Given the description of an element on the screen output the (x, y) to click on. 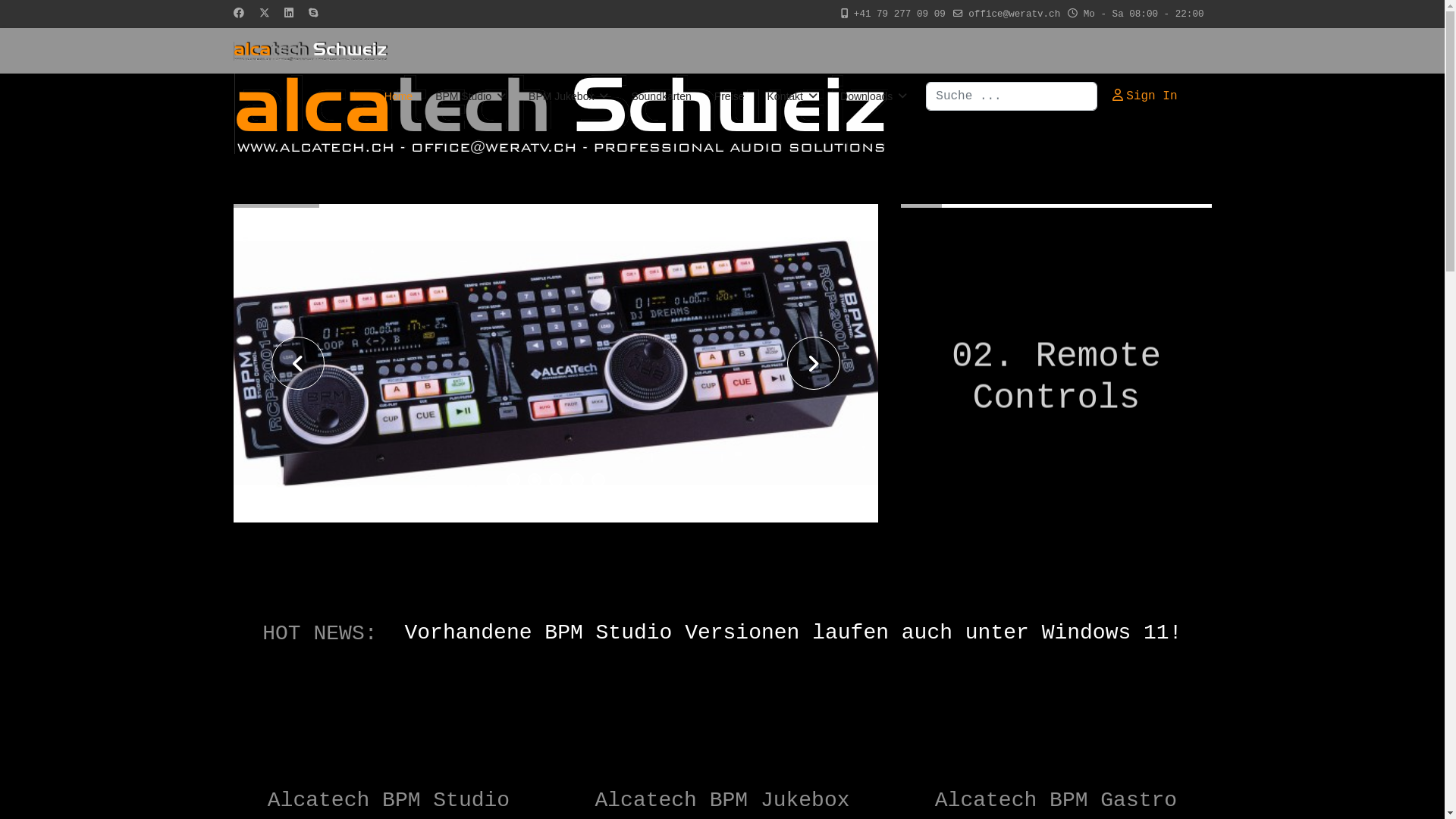
Preise Element type: text (729, 96)
+41 79 277 09 09 Element type: text (899, 14)
Kontakt Element type: text (792, 96)
Menu Element type: hover (1201, 96)
office@weratv.ch Element type: text (1014, 14)
Sign In Element type: text (1144, 96)
Soundkarten Element type: text (660, 96)
BPM Studio Element type: text (470, 96)
BPM Jukebox Element type: text (568, 96)
Downloads Element type: text (867, 96)
Home Element type: text (398, 96)
